Given the description of an element on the screen output the (x, y) to click on. 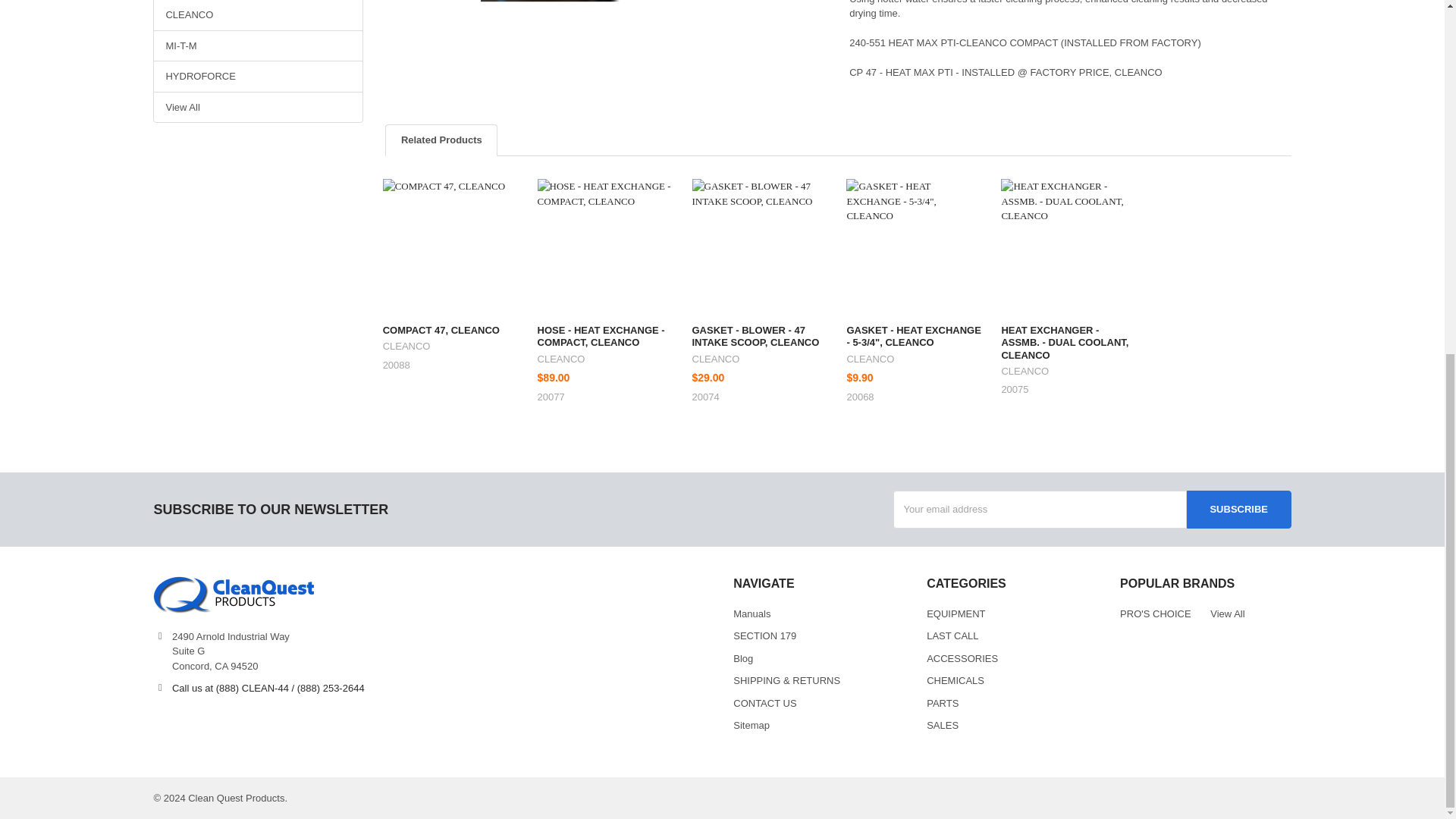
CLEANCO (257, 14)
MI-T-M (257, 46)
HYDROFORCE (257, 76)
Subscribe (1238, 509)
